Given the description of an element on the screen output the (x, y) to click on. 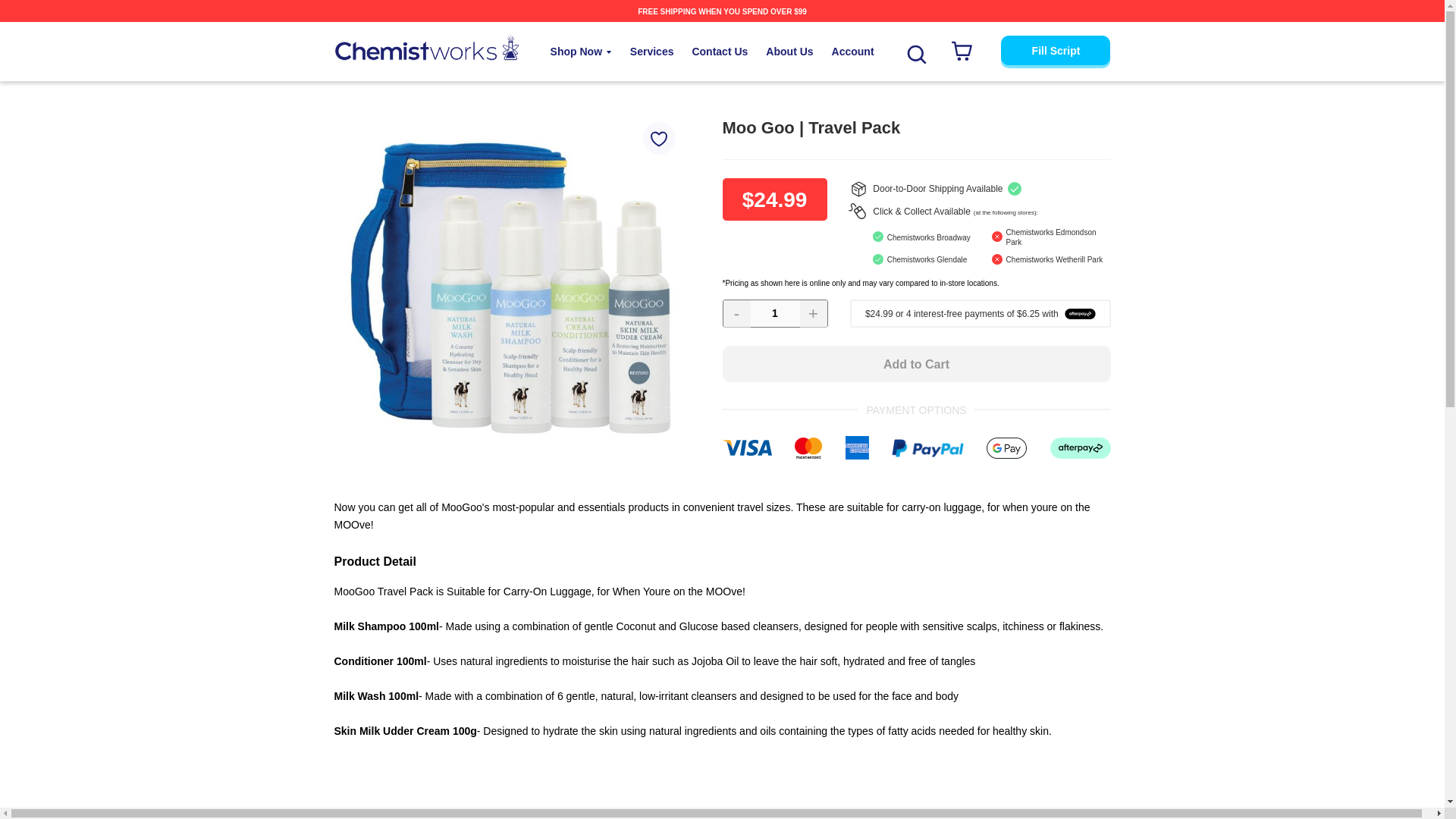
Contact Us (719, 51)
Shop Now (581, 51)
Fill Script (1055, 50)
About Us (789, 51)
Account (852, 51)
Services (651, 51)
Contact Us (719, 51)
About Us (789, 51)
Account (852, 51)
Fill Script (1055, 50)
